Given the description of an element on the screen output the (x, y) to click on. 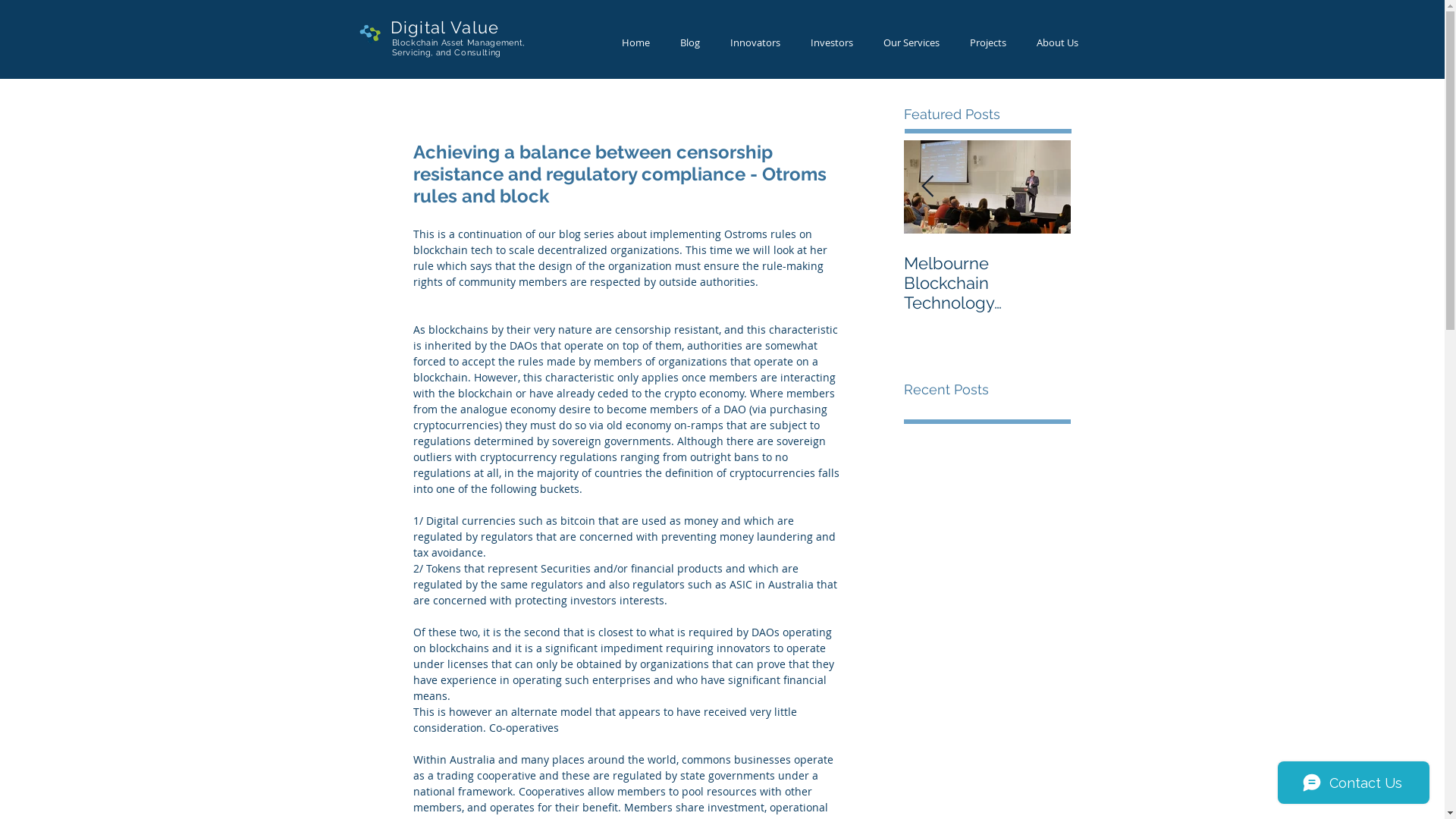
Blog Element type: text (689, 42)
Home Element type: text (635, 42)
Melbourne Blockchain Technology Conference Element type: text (986, 282)
Digital Value Element type: text (443, 27)
Projects Element type: text (986, 42)
